Given the description of an element on the screen output the (x, y) to click on. 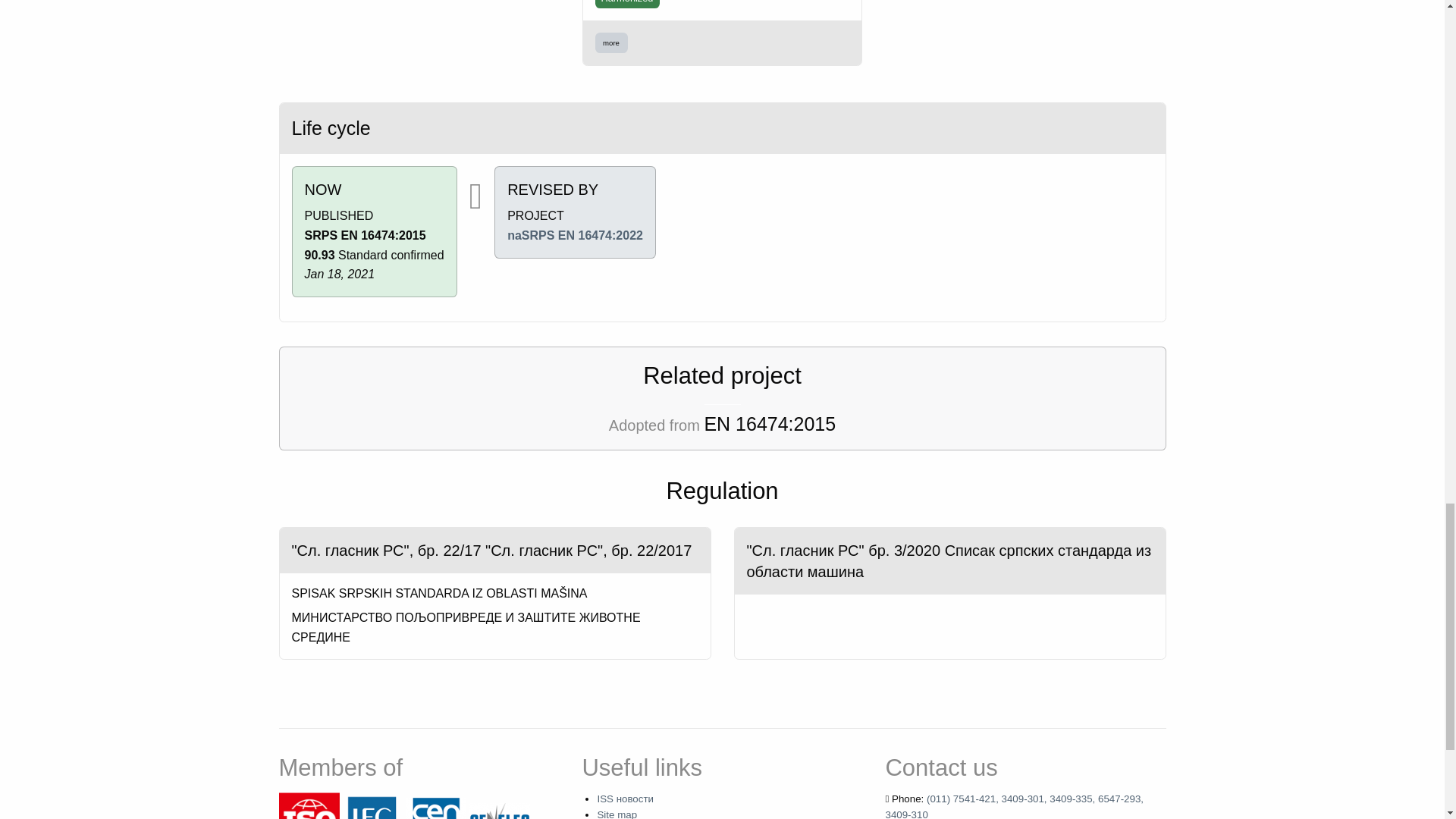
ISO (309, 816)
CENELEC (498, 816)
CEN (435, 816)
IEC (372, 816)
